Given the description of an element on the screen output the (x, y) to click on. 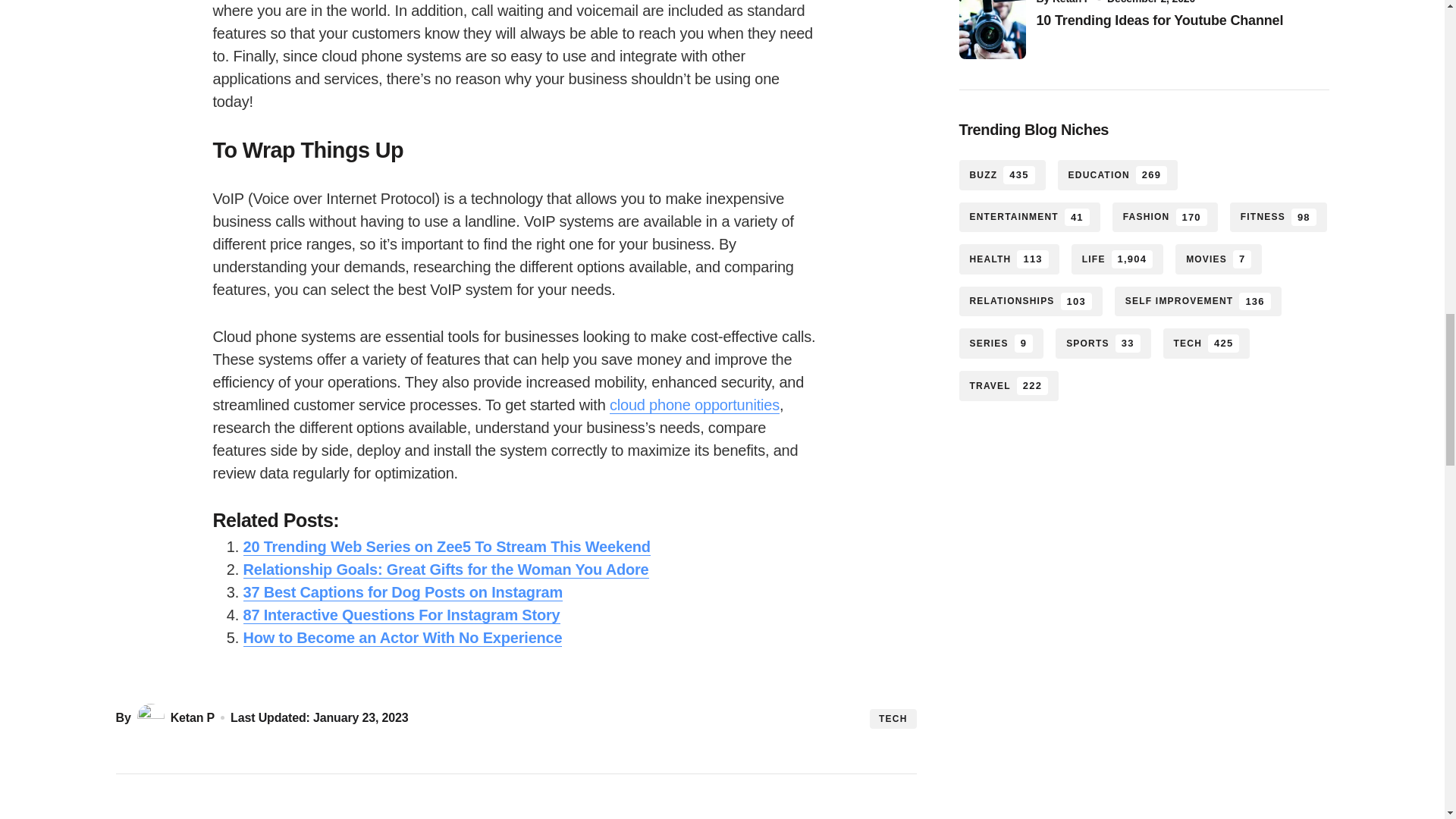
37 Best Captions for Dog Posts on Instagram (402, 592)
87 Interactive Questions For Instagram Story (401, 615)
How to Become an Actor With No Experience (402, 638)
20 Trending Web Series on Zee5 To Stream This Weekend (446, 547)
Relationship Goals: Great Gifts for the Woman You Adore (445, 569)
